Given the description of an element on the screen output the (x, y) to click on. 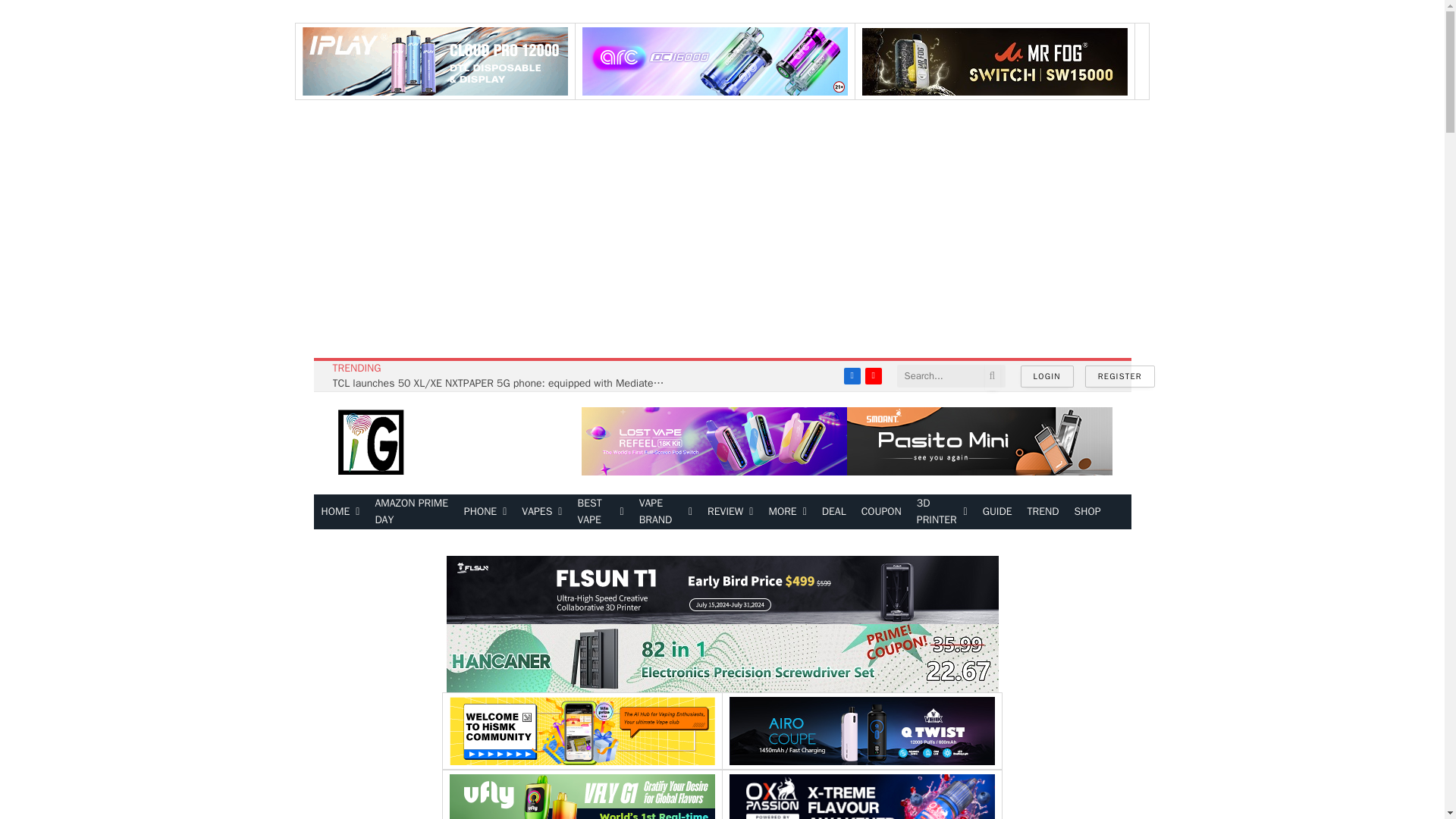
REGISTER (1119, 376)
PHONE (485, 511)
AMAZON PRIME DAY (410, 511)
Facebook (852, 375)
HOME (341, 511)
YouTube (873, 375)
LOGIN (1047, 376)
